Given the description of an element on the screen output the (x, y) to click on. 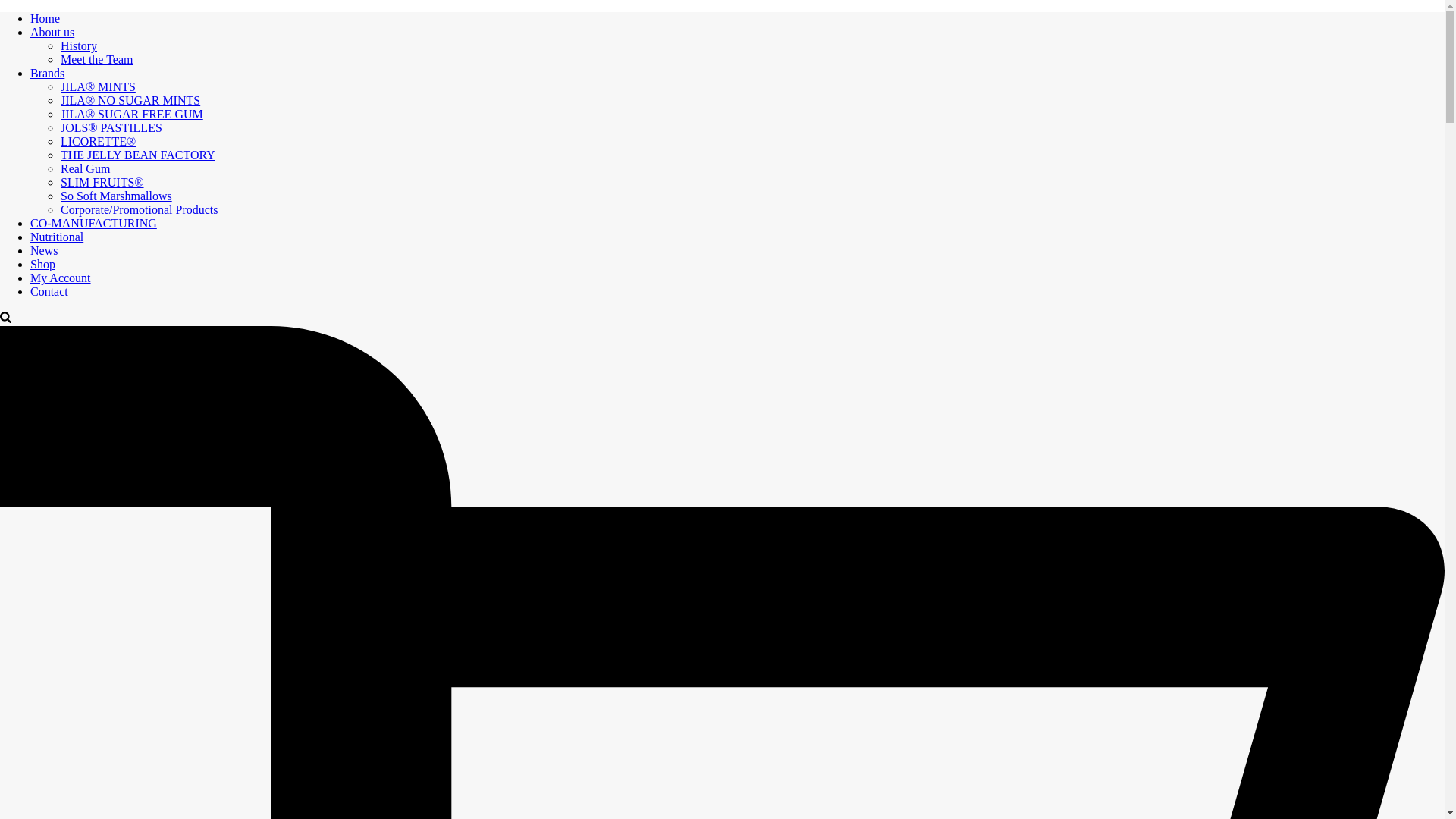
Real Gum Element type: text (84, 168)
So Soft Marshmallows Element type: text (116, 195)
Brands Element type: text (47, 72)
Contact Element type: text (49, 291)
CO-MANUFACTURING Element type: text (93, 222)
THE JELLY BEAN FACTORY Element type: text (137, 154)
Nutritional Element type: text (56, 236)
Corporate/Promotional Products Element type: text (139, 209)
Shop Element type: text (42, 263)
About us Element type: text (52, 31)
My Account Element type: text (60, 277)
Meet the Team Element type: text (96, 59)
History Element type: text (78, 45)
Home Element type: text (44, 18)
News Element type: text (43, 250)
